Given the description of an element on the screen output the (x, y) to click on. 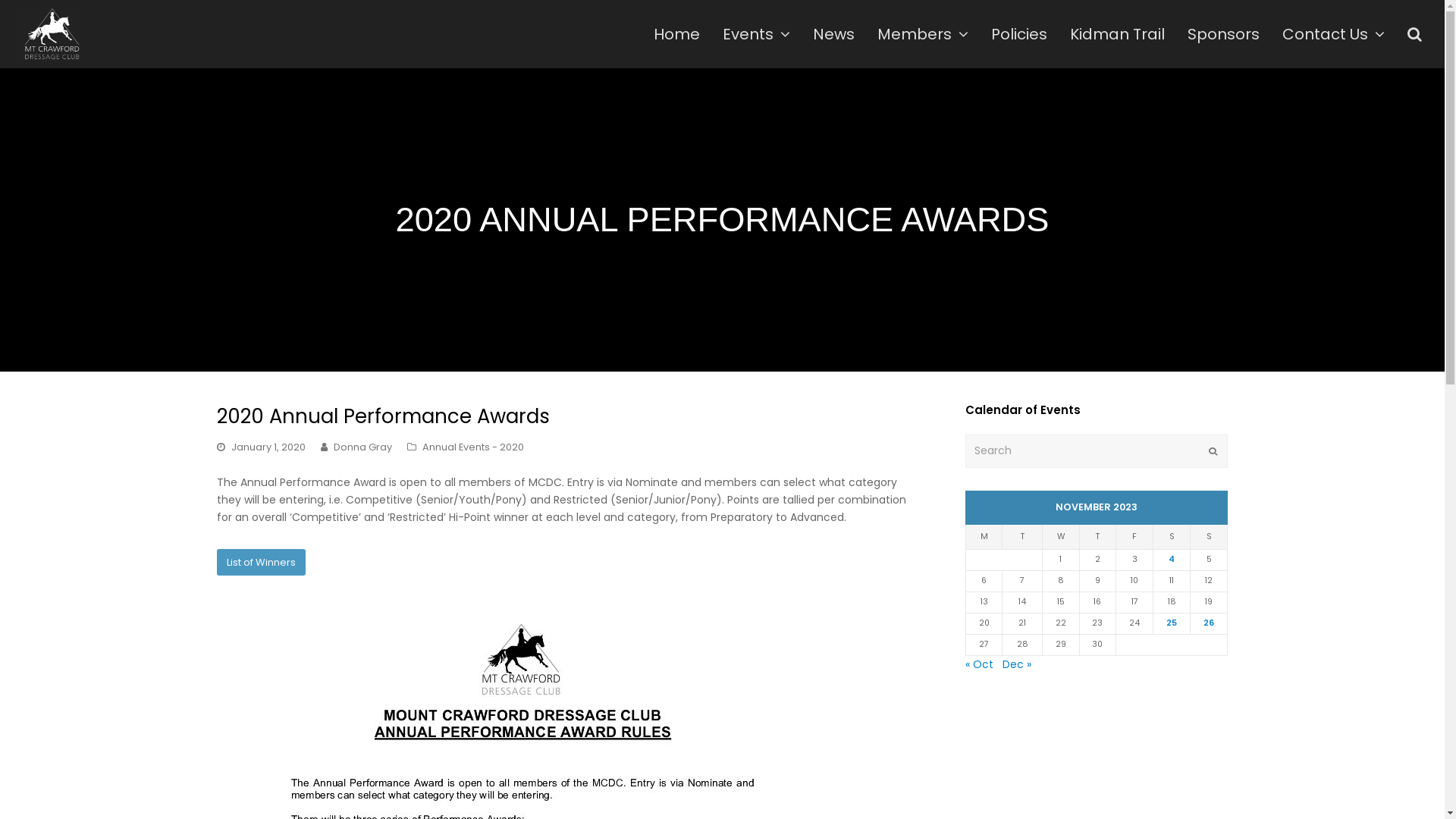
Members Element type: text (922, 34)
Annual Events - 2020 Element type: text (473, 446)
News Element type: text (833, 34)
26 Element type: text (1208, 623)
Contact Us Element type: text (1333, 34)
Home Element type: text (676, 34)
Sponsors Element type: text (1223, 34)
Donna Gray Element type: text (362, 446)
Submit Element type: text (1212, 450)
25 Element type: text (1171, 623)
List of Winners Element type: text (260, 561)
Kidman Trail Element type: text (1117, 34)
Events Element type: text (756, 34)
Policies Element type: text (1018, 34)
4 Element type: text (1171, 559)
